Given the description of an element on the screen output the (x, y) to click on. 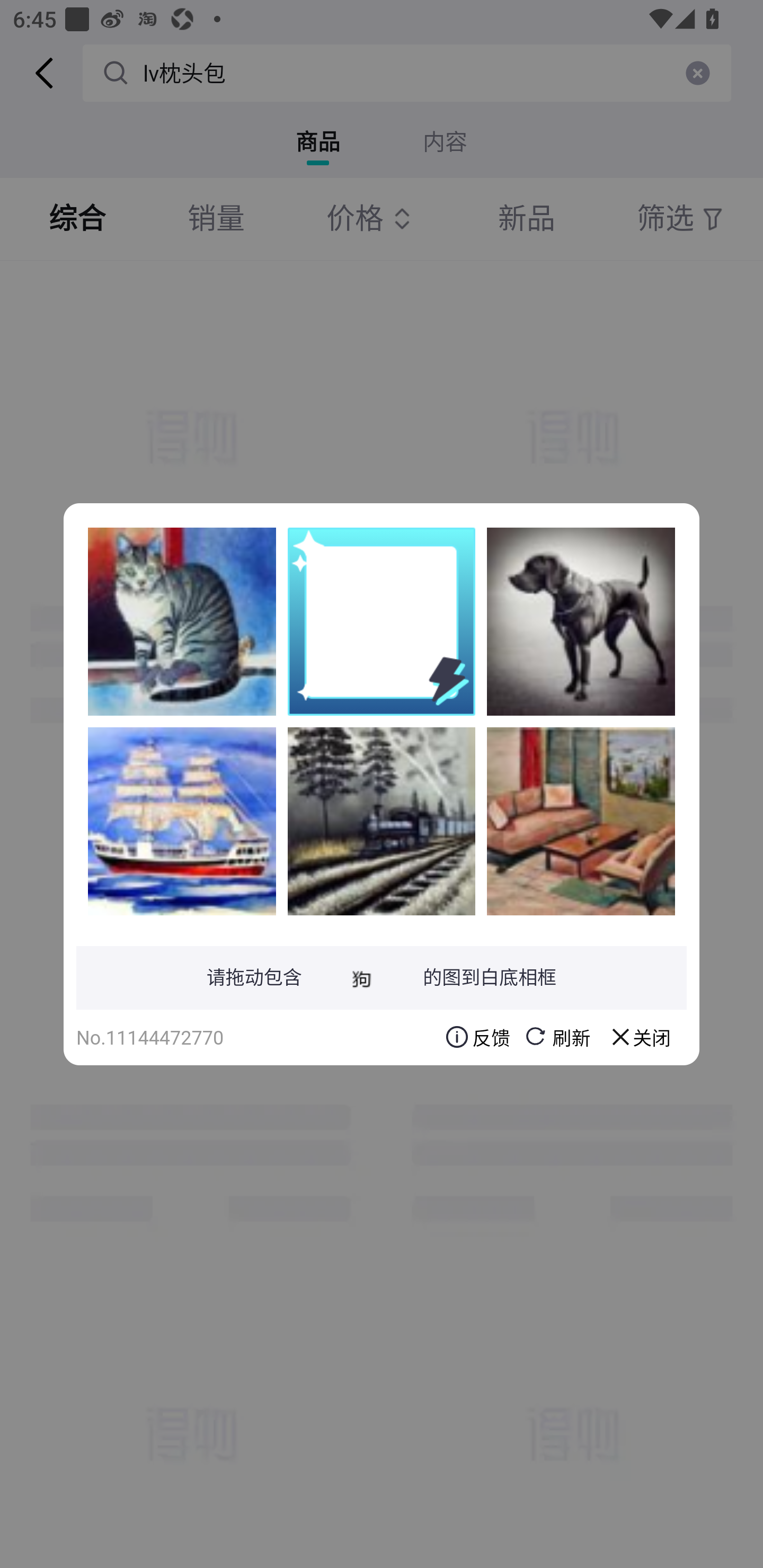
08cHsjgPRU (181, 621)
2Xs27wGJloQAy3GqsW9+I (181, 820)
7w8ztl7z (381, 820)
PWp9jTk7AENEvdrcXznOqJ3anJkyzqObNfBf4s2AV (580, 820)
